Given the description of an element on the screen output the (x, y) to click on. 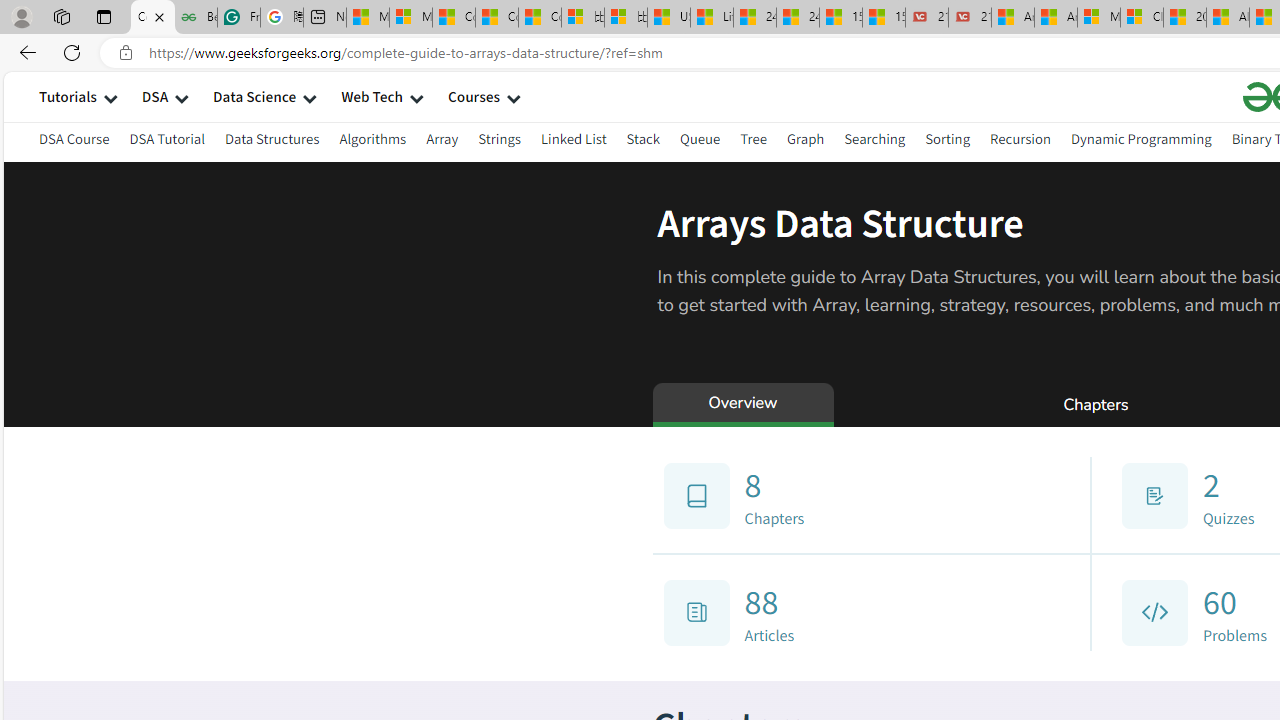
DSA Course (74, 142)
Courses (474, 96)
Searching (875, 142)
Tree (752, 138)
Graph (804, 138)
Array (442, 138)
Sorting (947, 138)
USA TODAY - MSN (668, 17)
20 Ways to Boost Your Protein Intake at Every Meal (1184, 17)
